Given the description of an element on the screen output the (x, y) to click on. 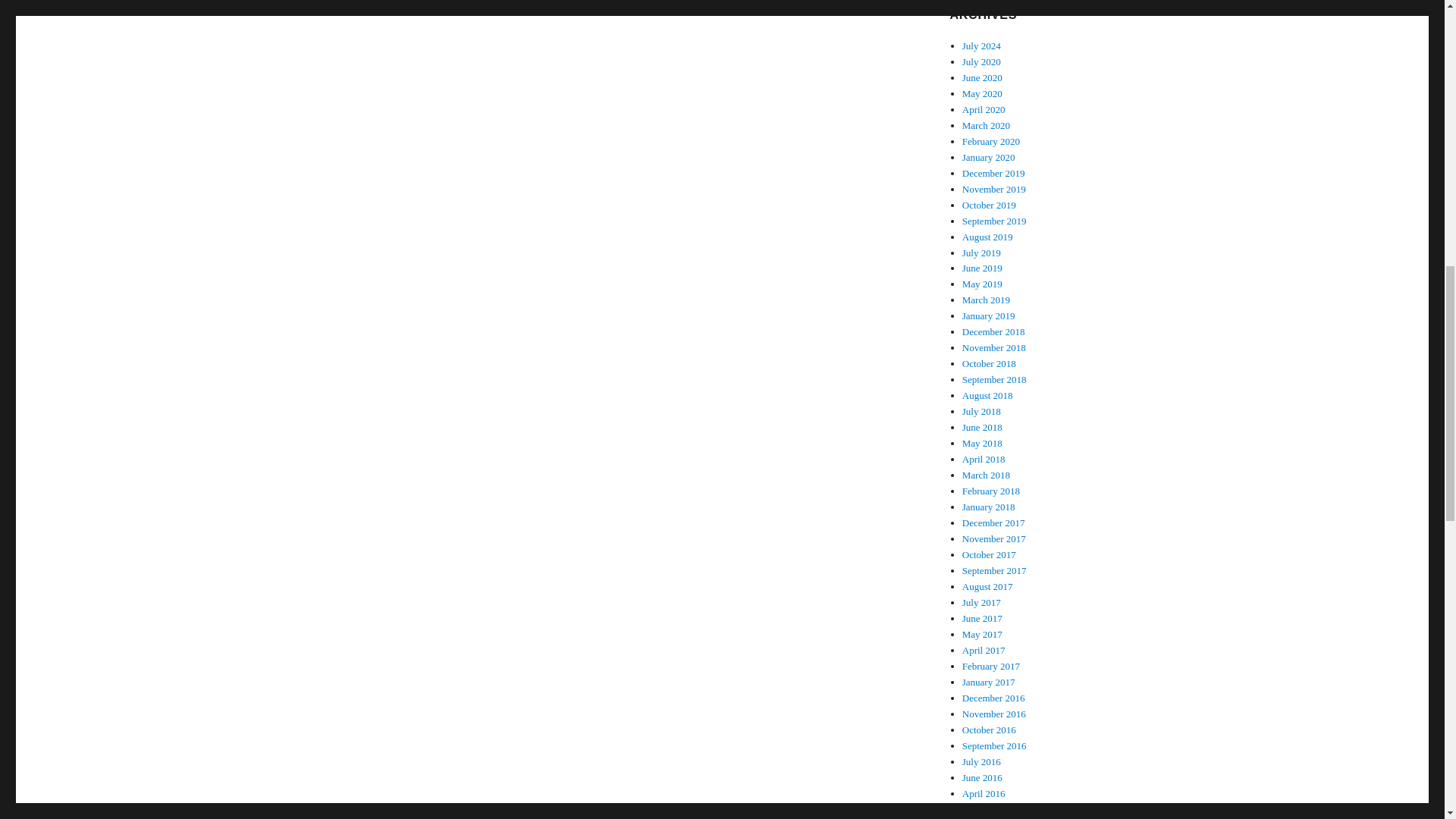
July 2018 (981, 410)
January 2019 (988, 315)
May 2019 (982, 283)
December 2019 (993, 173)
June 2019 (982, 267)
July 2020 (981, 61)
December 2018 (993, 331)
November 2019 (994, 188)
January 2020 (988, 156)
March 2020 (986, 125)
September 2018 (994, 378)
August 2019 (987, 236)
August 2018 (987, 395)
June 2020 (982, 77)
October 2018 (989, 363)
